Given the description of an element on the screen output the (x, y) to click on. 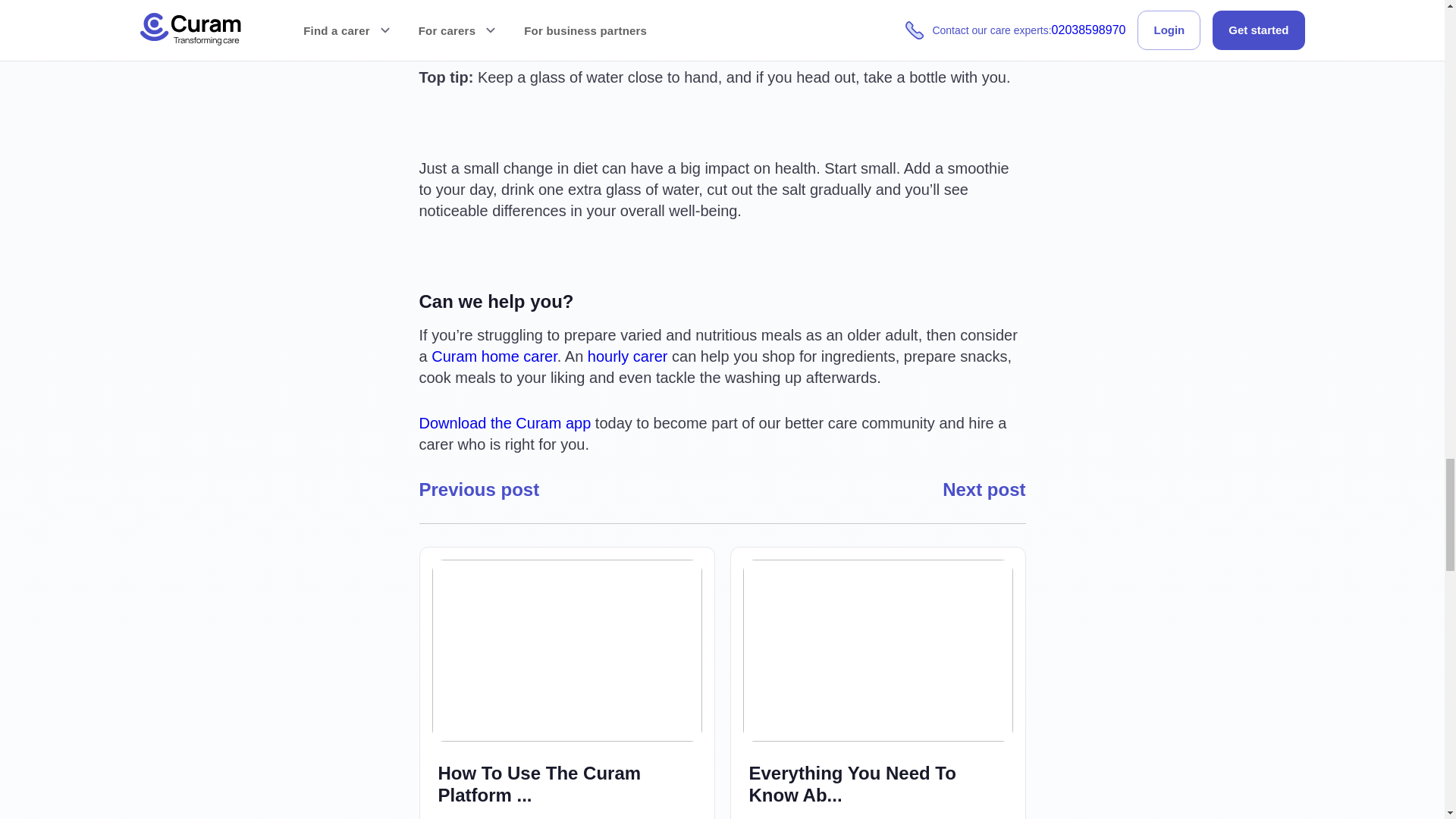
How To Use The Curam Platform To Find Clients (566, 660)
Everything You Need To Know About Curam (877, 660)
How To Use The Curam Platform To Find Clients (566, 790)
Everything You Need To Know About Curam (878, 785)
How To Use The Curam Platform To Find Clients (566, 785)
Everything You Need To Know About Curam (877, 790)
